Given the description of an element on the screen output the (x, y) to click on. 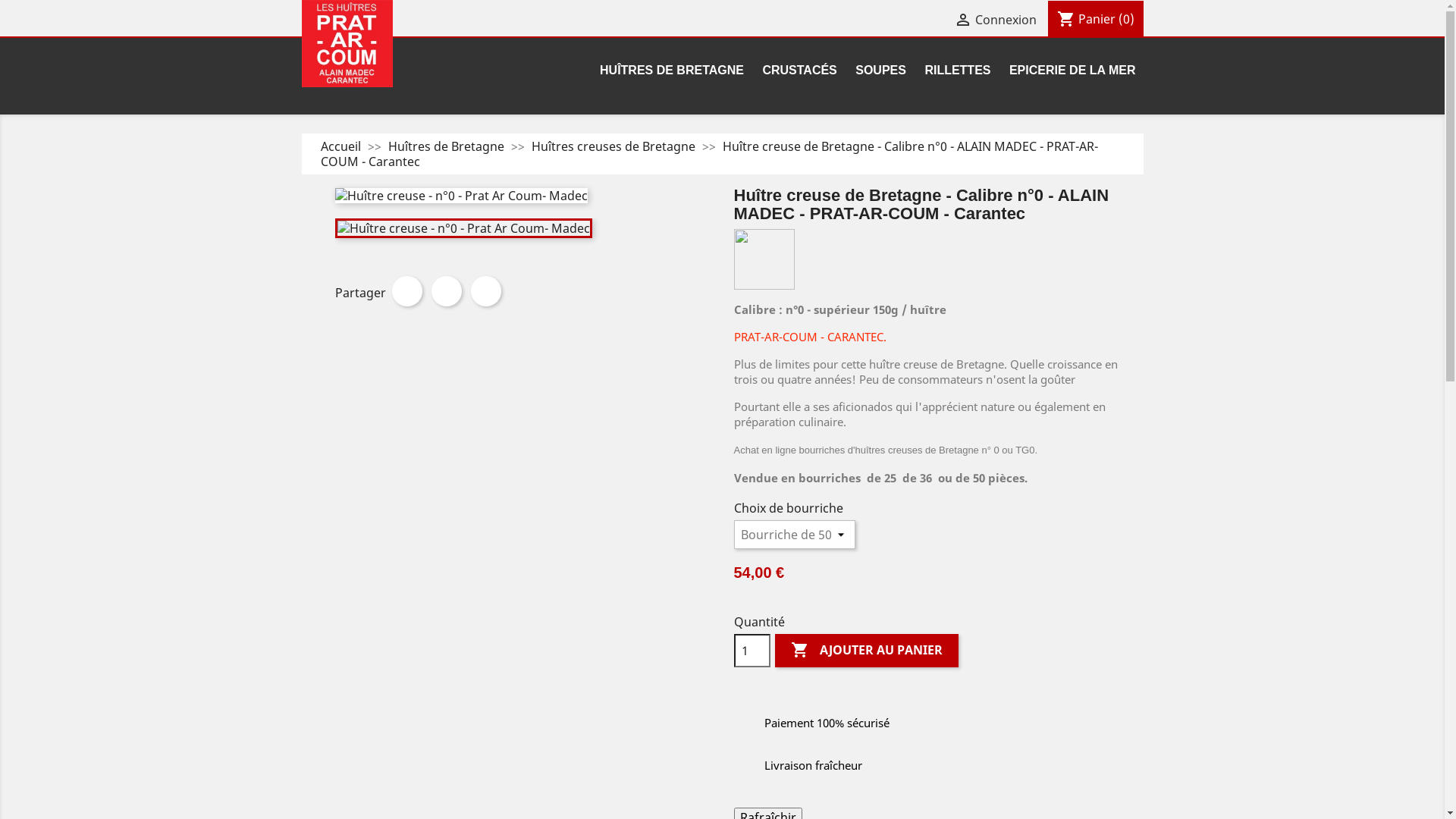
Tweet Element type: text (445, 291)
SOUPES Element type: text (880, 71)
PRAT-AR-COUM - Ets Alain Madec Element type: hover (346, 42)
RILLETTES Element type: text (956, 71)
Pinterest Element type: text (485, 291)
EPICERIE DE LA MER Element type: text (1072, 71)
Partager Element type: text (406, 291)
Accueil Element type: text (341, 146)
